Given the description of an element on the screen output the (x, y) to click on. 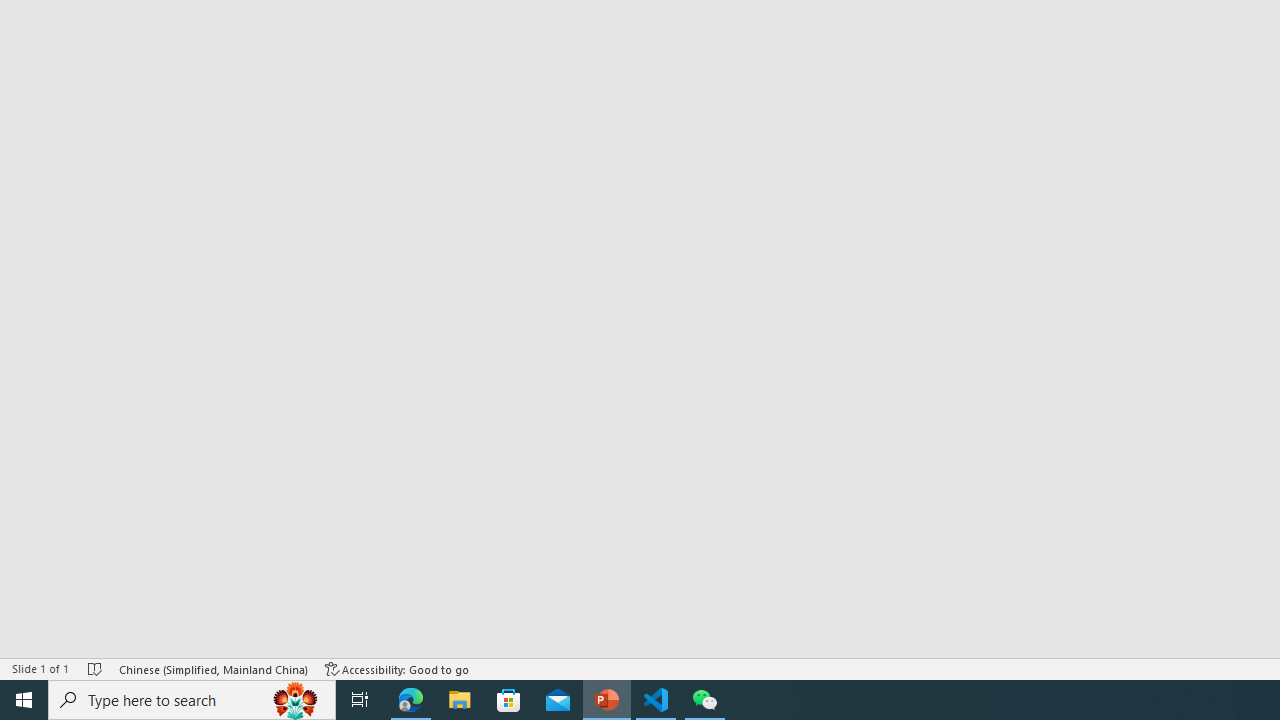
Accessibility Checker Accessibility: Good to go (397, 668)
